Given the description of an element on the screen output the (x, y) to click on. 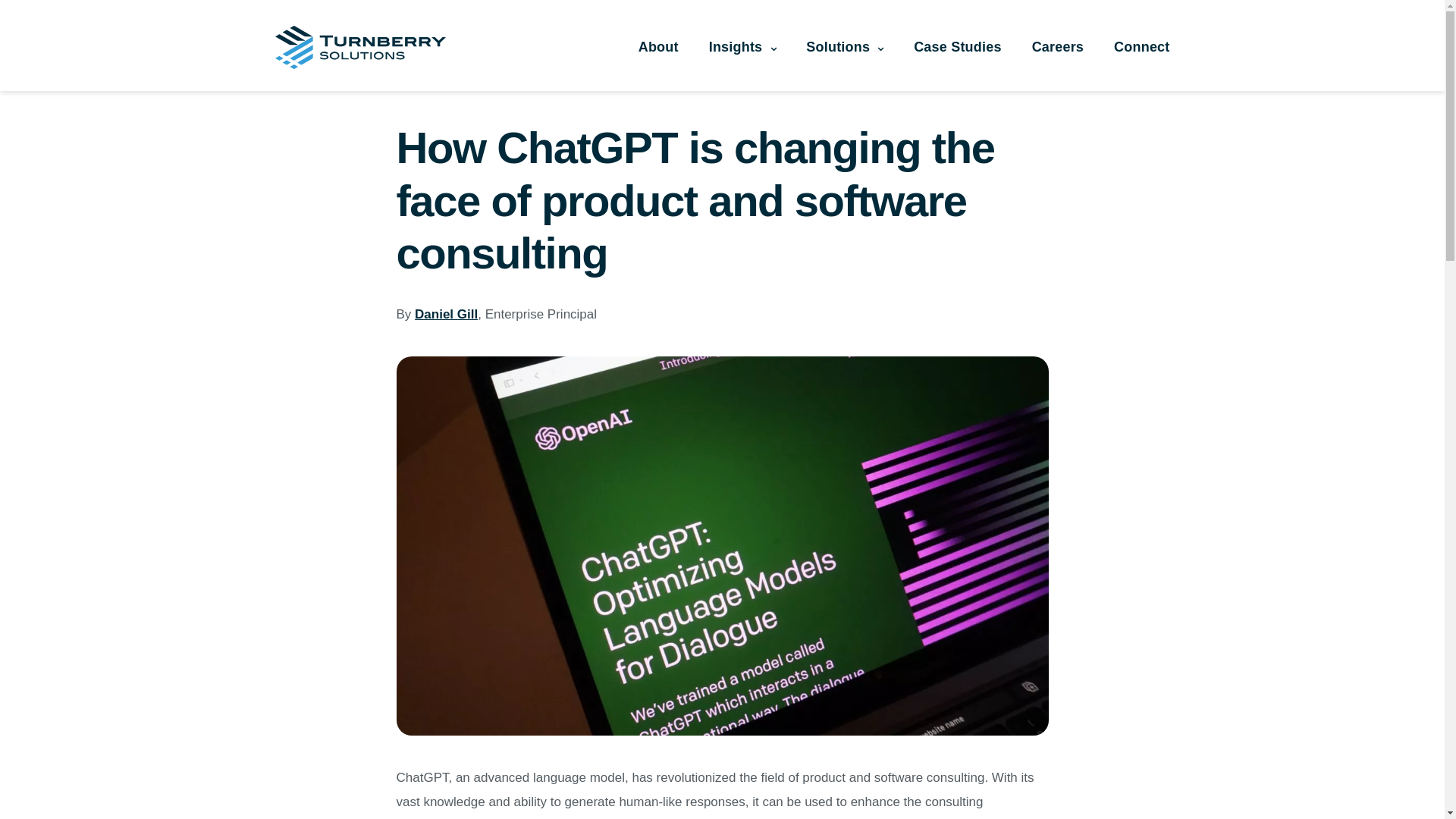
Solutions (837, 46)
Careers (1057, 46)
About (658, 46)
Insights (735, 46)
Daniel Gill (445, 314)
Connect (1141, 46)
Case Studies (957, 46)
